Given the description of an element on the screen output the (x, y) to click on. 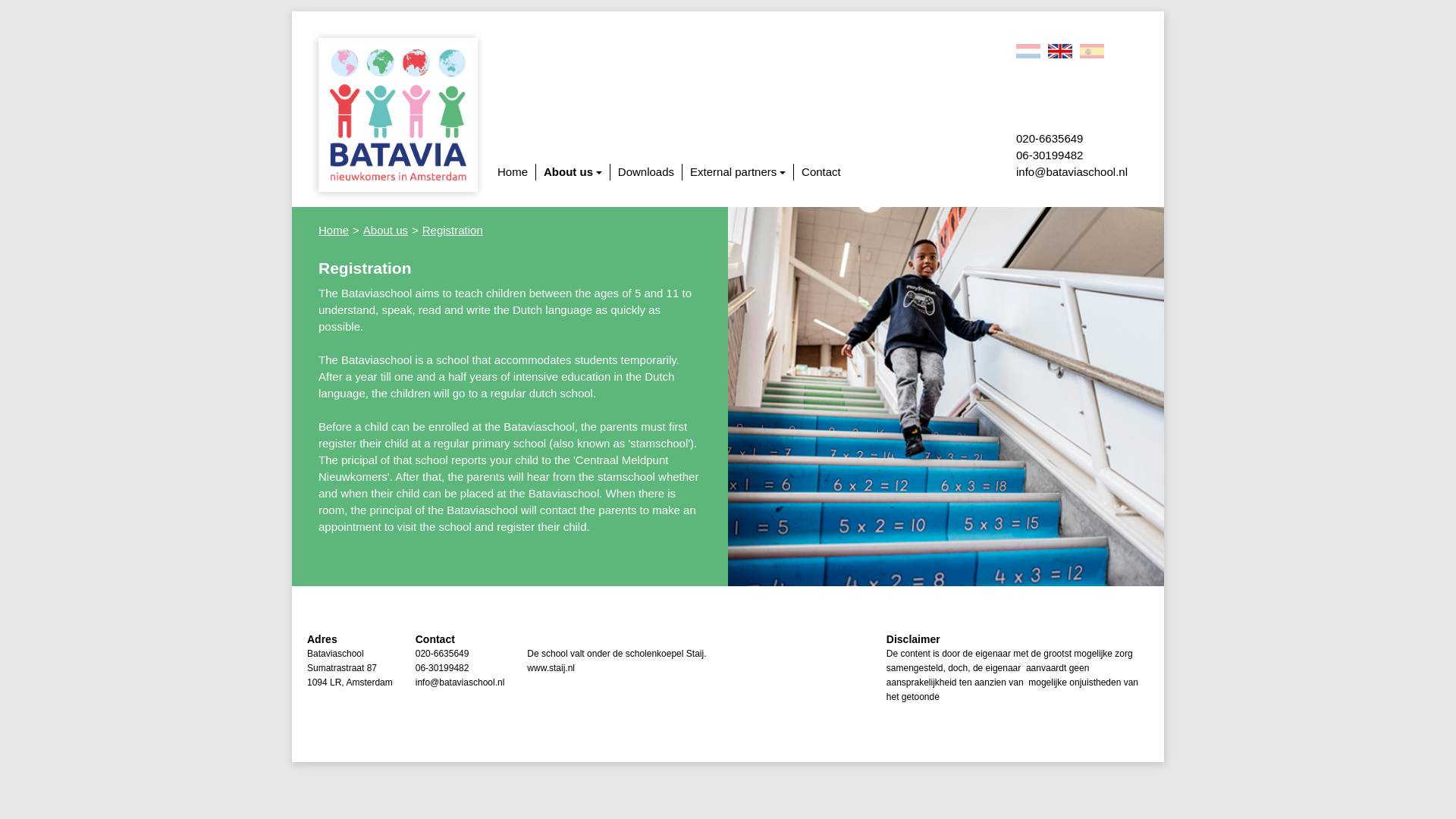
About us (384, 229)
Home (333, 229)
06-30199482 (459, 667)
Contact (820, 171)
Contact (820, 171)
Registration (452, 229)
020-6635649 (459, 653)
English (1059, 51)
Downloads (645, 171)
06-30199482 (1072, 155)
Spanish (1091, 51)
About us (572, 171)
External partners (737, 171)
Downloads (646, 171)
External partners (737, 171)
